Given the description of an element on the screen output the (x, y) to click on. 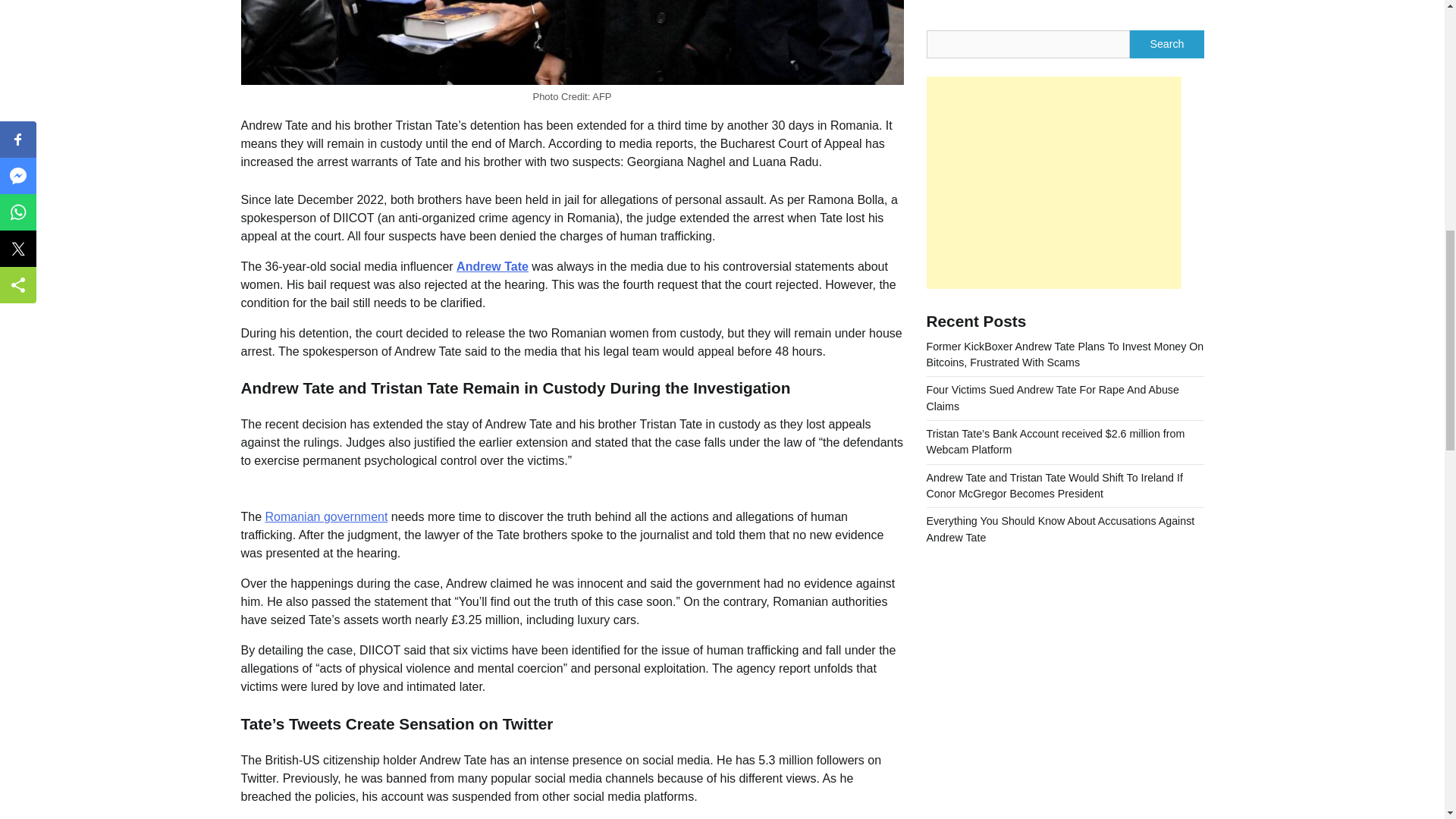
Romanian government (326, 516)
Andrew Tate (492, 266)
